Given the description of an element on the screen output the (x, y) to click on. 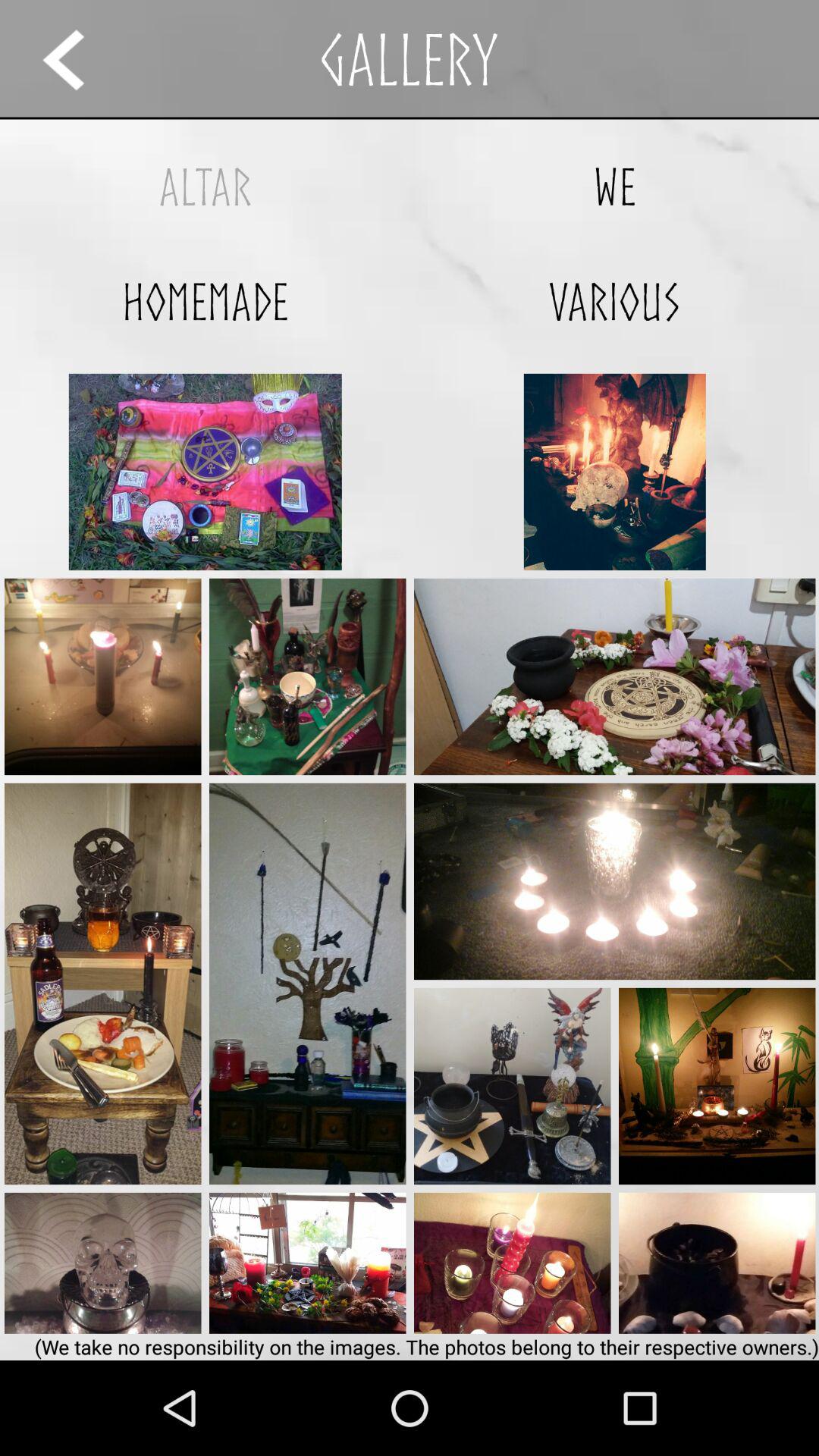
press icon next to the homemade app (614, 301)
